Given the description of an element on the screen output the (x, y) to click on. 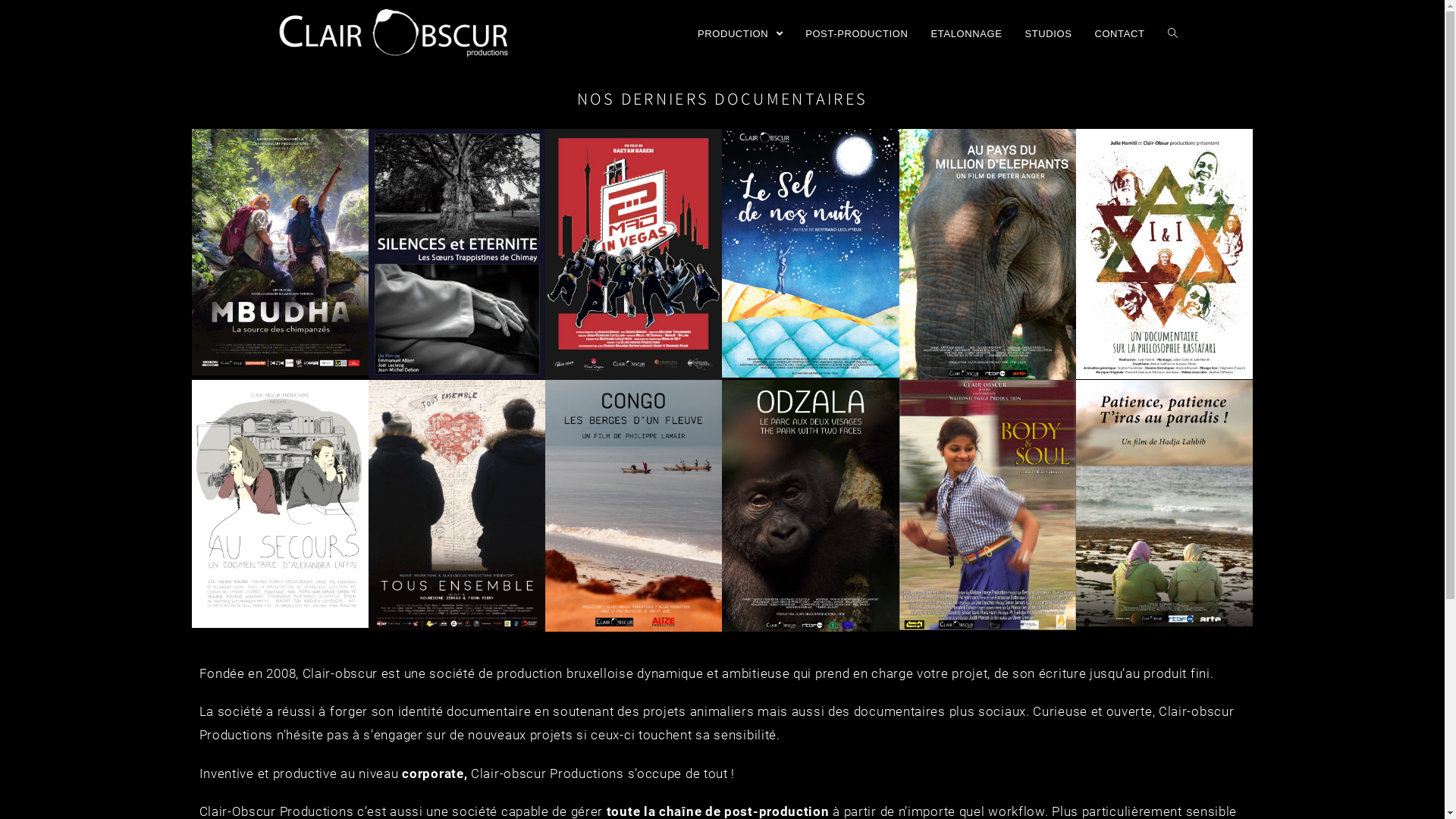
PRODUCTION Element type: text (739, 34)
corporate Element type: text (432, 773)
POST-PRODUCTION Element type: text (856, 34)
STUDIOS Element type: text (1047, 34)
ETALONNAGE Element type: text (966, 34)
CONTACT Element type: text (1118, 34)
